Given the description of an element on the screen output the (x, y) to click on. 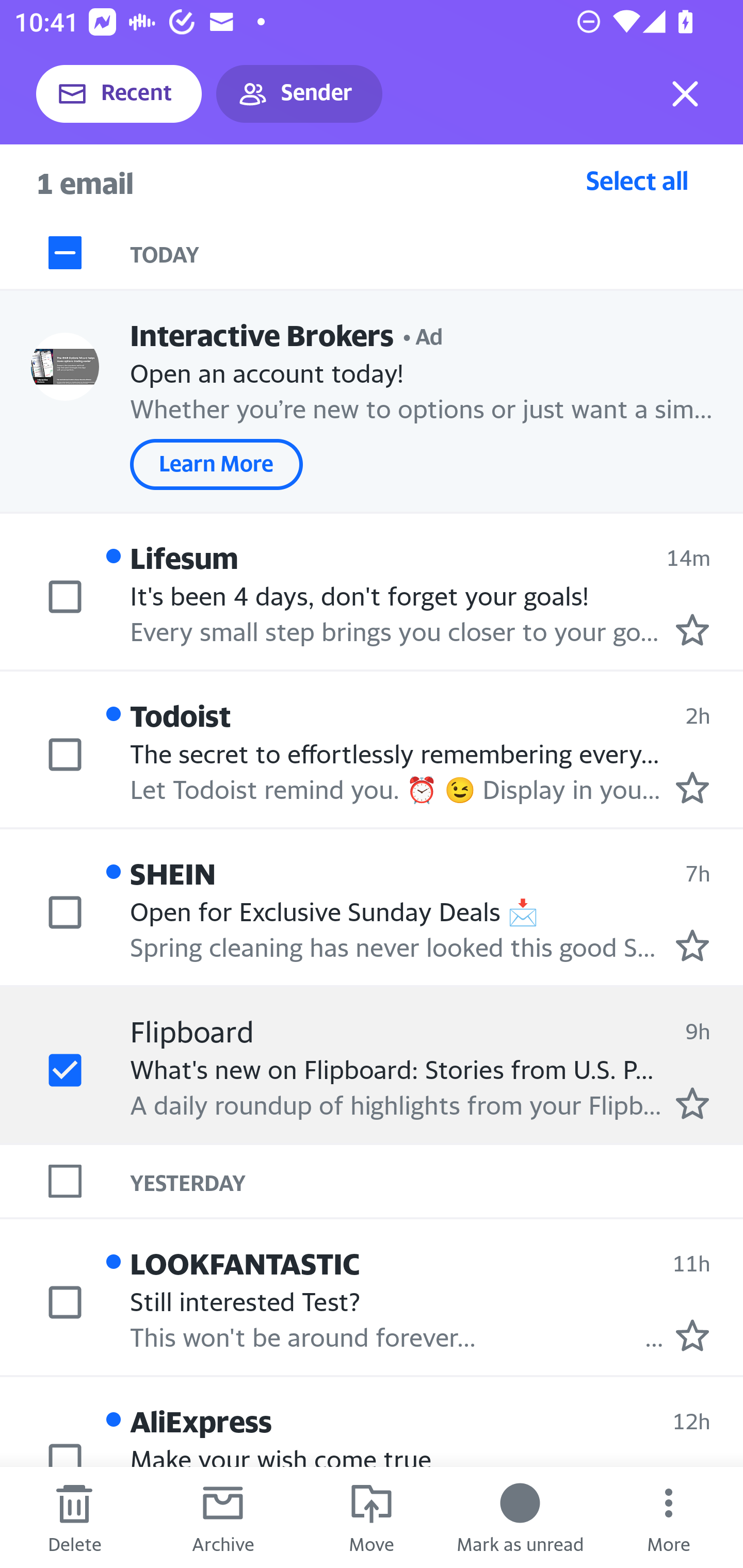
Sender (299, 93)
Exit selection mode (684, 93)
Select all (637, 180)
TODAY (436, 252)
Mark as starred. (692, 629)
Mark as starred. (692, 787)
Mark as starred. (692, 944)
Mark as starred. (692, 1103)
YESTERDAY (436, 1181)
Mark as starred. (692, 1335)
Delete (74, 1517)
Archive (222, 1517)
Move (371, 1517)
Mark as unread (519, 1517)
More (668, 1517)
